Given the description of an element on the screen output the (x, y) to click on. 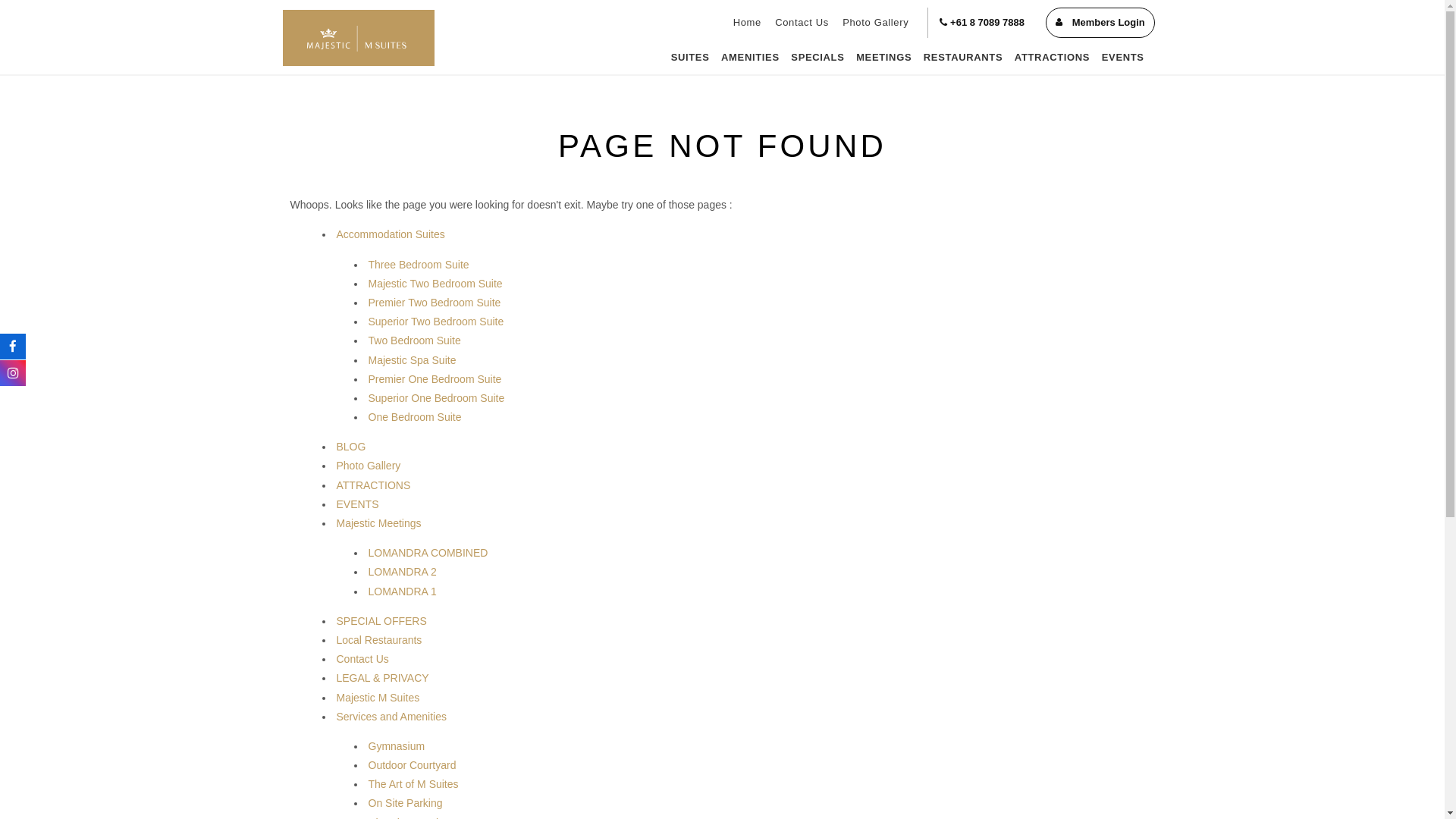
EVENTS Element type: text (357, 504)
Majestic M Suites Element type: text (378, 697)
Outdoor Courtyard Element type: text (412, 765)
Contact Us Element type: text (362, 658)
MEETINGS Element type: text (883, 57)
Photo Gallery Element type: text (875, 22)
One Bedroom Suite Element type: text (414, 417)
ATTRACTIONS Element type: text (1051, 57)
SUITES Element type: text (690, 57)
ATTRACTIONS Element type: text (373, 485)
BLOG Element type: text (351, 446)
The Art of M Suites Element type: text (413, 784)
AMENITIES Element type: text (749, 57)
Superior Two Bedroom Suite Element type: text (436, 321)
+61 8 7089 7888 Element type: text (981, 22)
Accommodation Suites Element type: text (390, 234)
SPECIALS Element type: text (817, 57)
Three Bedroom Suite Element type: text (418, 264)
Home Element type: text (747, 22)
LOMANDRA 2 Element type: text (402, 571)
Majestic Two Bedroom Suite Element type: text (435, 283)
On Site Parking Element type: text (405, 803)
Premier One Bedroom Suite Element type: text (435, 379)
Superior One Bedroom Suite Element type: text (436, 398)
Majestic Meetings Element type: text (378, 523)
LOMANDRA COMBINED Element type: text (428, 552)
Two Bedroom Suite Element type: text (414, 340)
EVENTS Element type: text (1122, 57)
Services and Amenities Element type: text (391, 716)
Contact Us Element type: text (801, 22)
Local Restaurants Element type: text (379, 639)
Photo Gallery Element type: text (368, 465)
LOMANDRA 1 Element type: text (402, 591)
Members Login Element type: text (1099, 22)
RESTAURANTS Element type: text (962, 57)
SPECIAL OFFERS Element type: text (381, 621)
Premier Two Bedroom Suite Element type: text (434, 302)
Majestic Spa Suite Element type: text (412, 359)
LEGAL & PRIVACY Element type: text (382, 677)
Gymnasium Element type: text (396, 746)
